Given the description of an element on the screen output the (x, y) to click on. 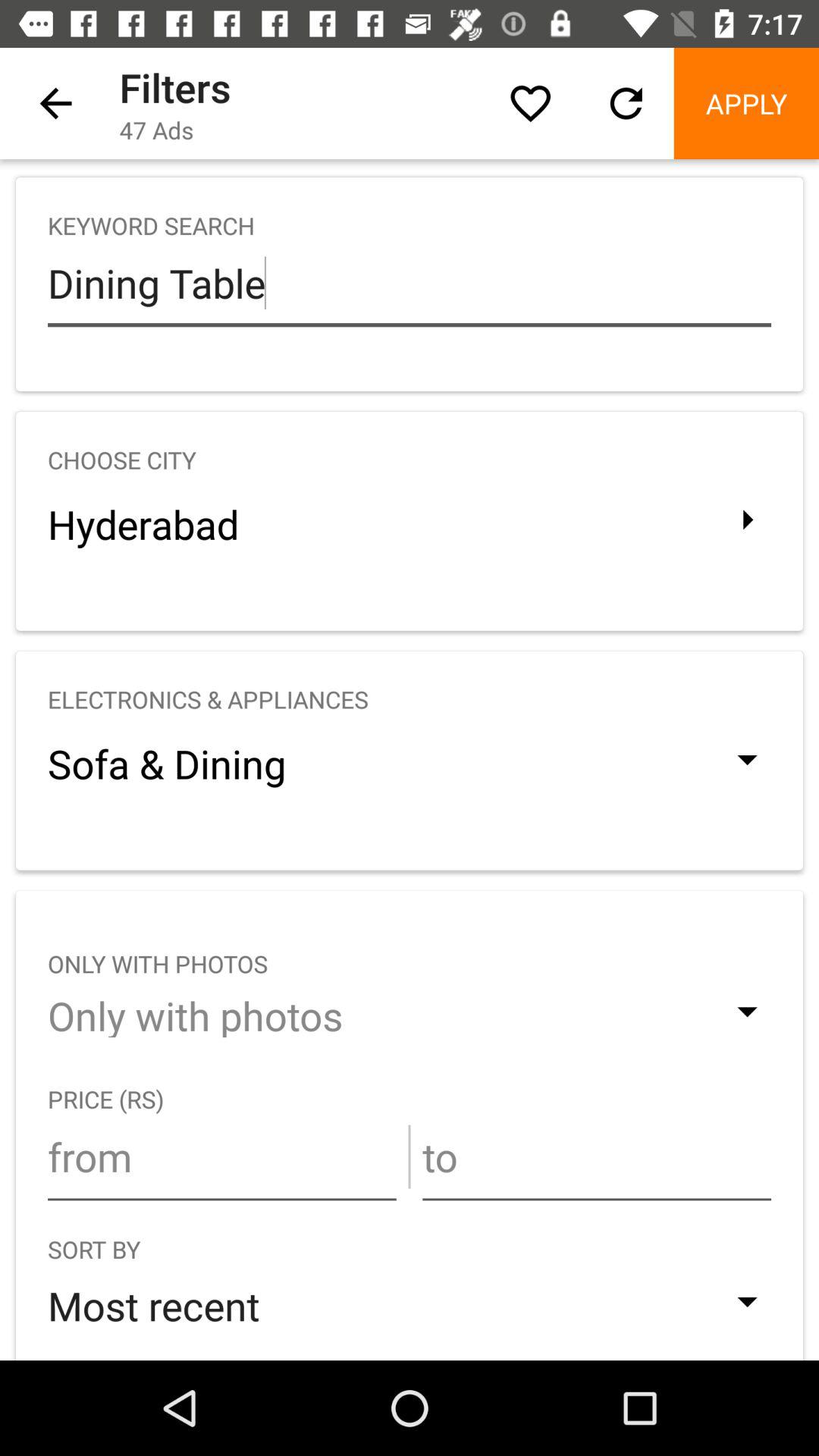
open the hyderabad icon (409, 523)
